Given the description of an element on the screen output the (x, y) to click on. 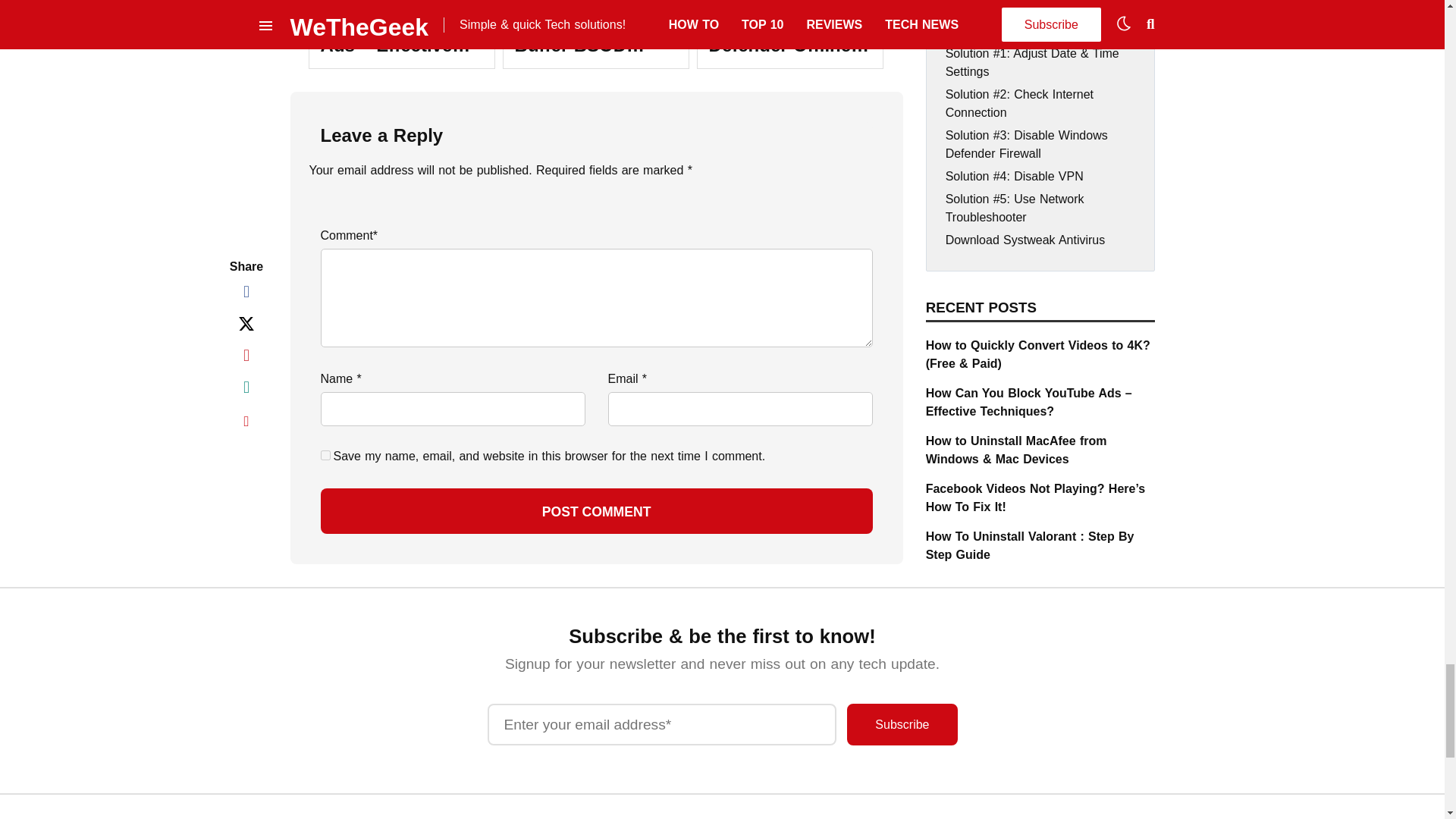
Subscribe (901, 724)
yes (325, 455)
Post Comment (596, 510)
